Given the description of an element on the screen output the (x, y) to click on. 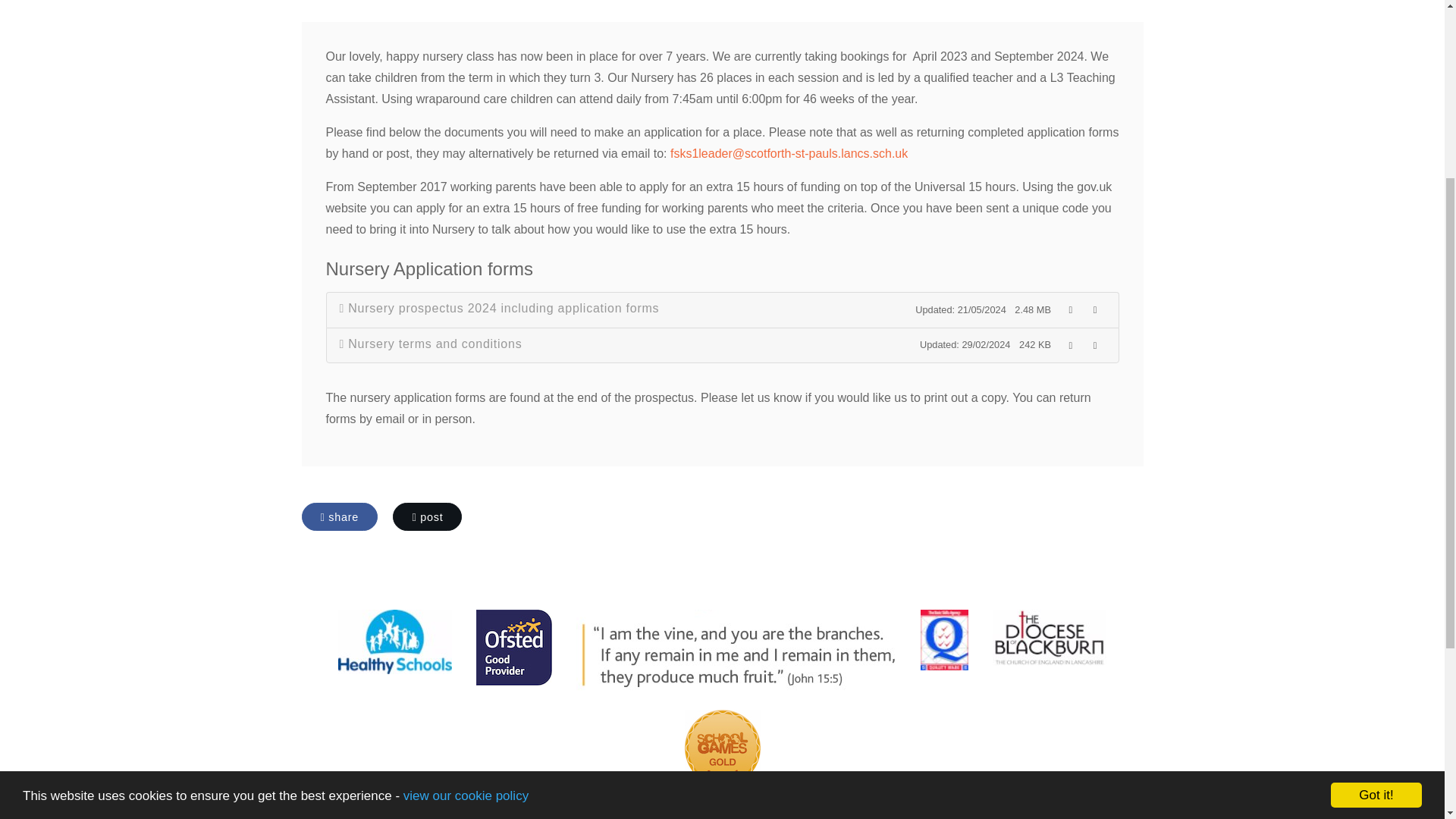
Vines (736, 653)
QM (943, 639)
Share on Facebook (339, 516)
Blackbrun Diocese (1048, 637)
Ofsted (514, 647)
Facebook (930, 336)
Healthy Schools (395, 641)
Post on X (427, 516)
School Gold Award (721, 747)
